Given the description of an element on the screen output the (x, y) to click on. 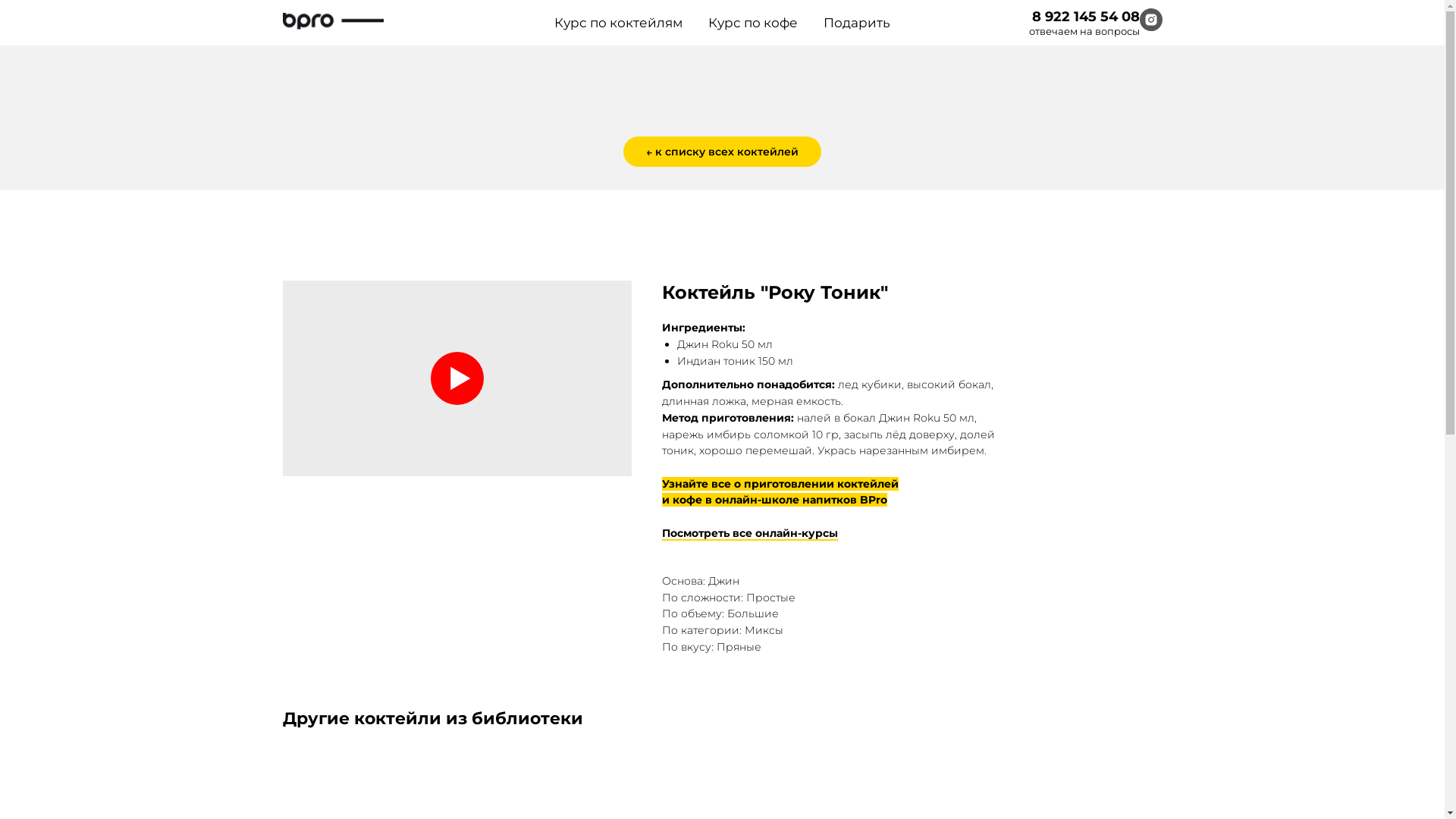
8 922 145 54 08 Element type: text (1085, 16)
